Given the description of an element on the screen output the (x, y) to click on. 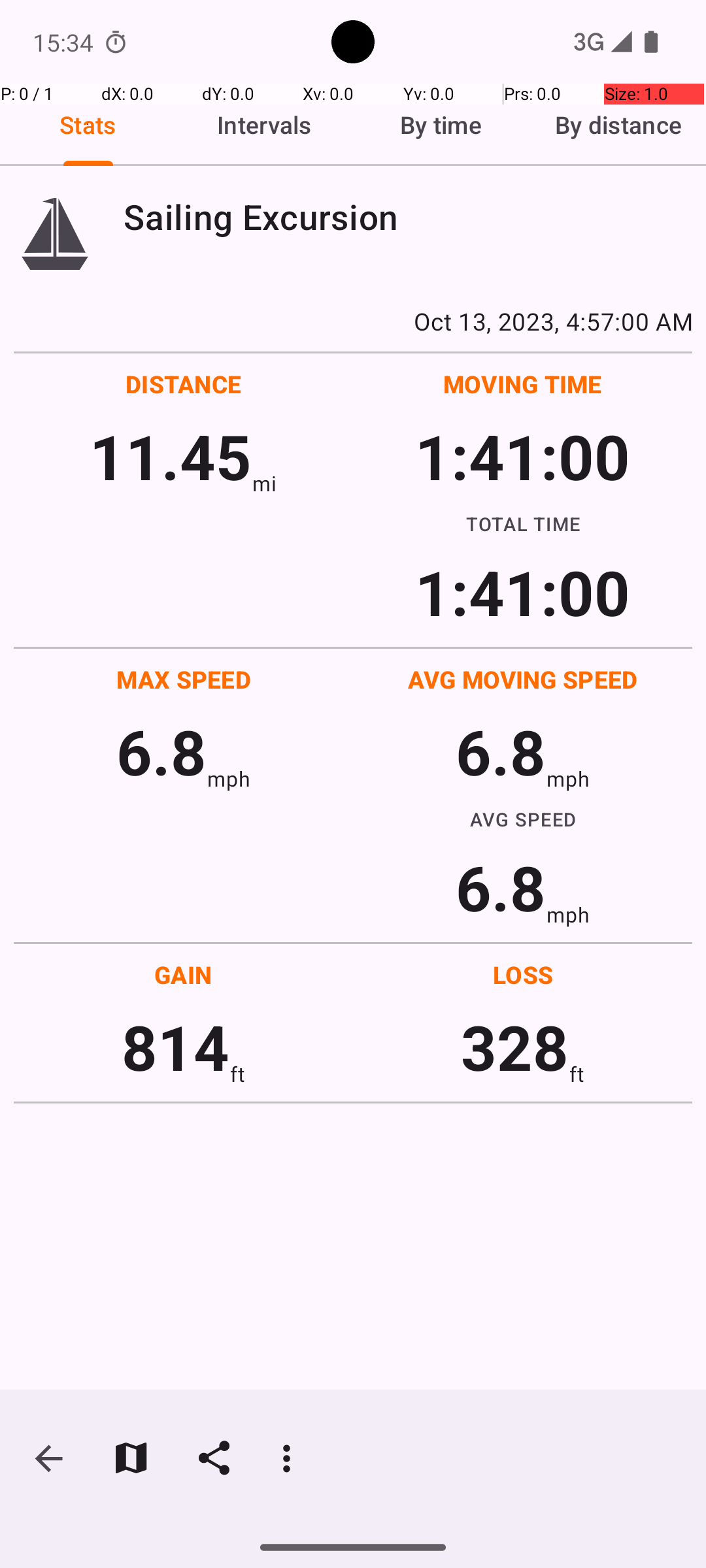
Sailing Excursion Element type: android.widget.TextView (407, 216)
Oct 13, 2023, 4:57:00 AM Element type: android.widget.TextView (352, 320)
11.45 Element type: android.widget.TextView (170, 455)
1:41:00 Element type: android.widget.TextView (522, 455)
6.8 Element type: android.widget.TextView (161, 750)
814 Element type: android.widget.TextView (175, 1045)
328 Element type: android.widget.TextView (514, 1045)
